Given the description of an element on the screen output the (x, y) to click on. 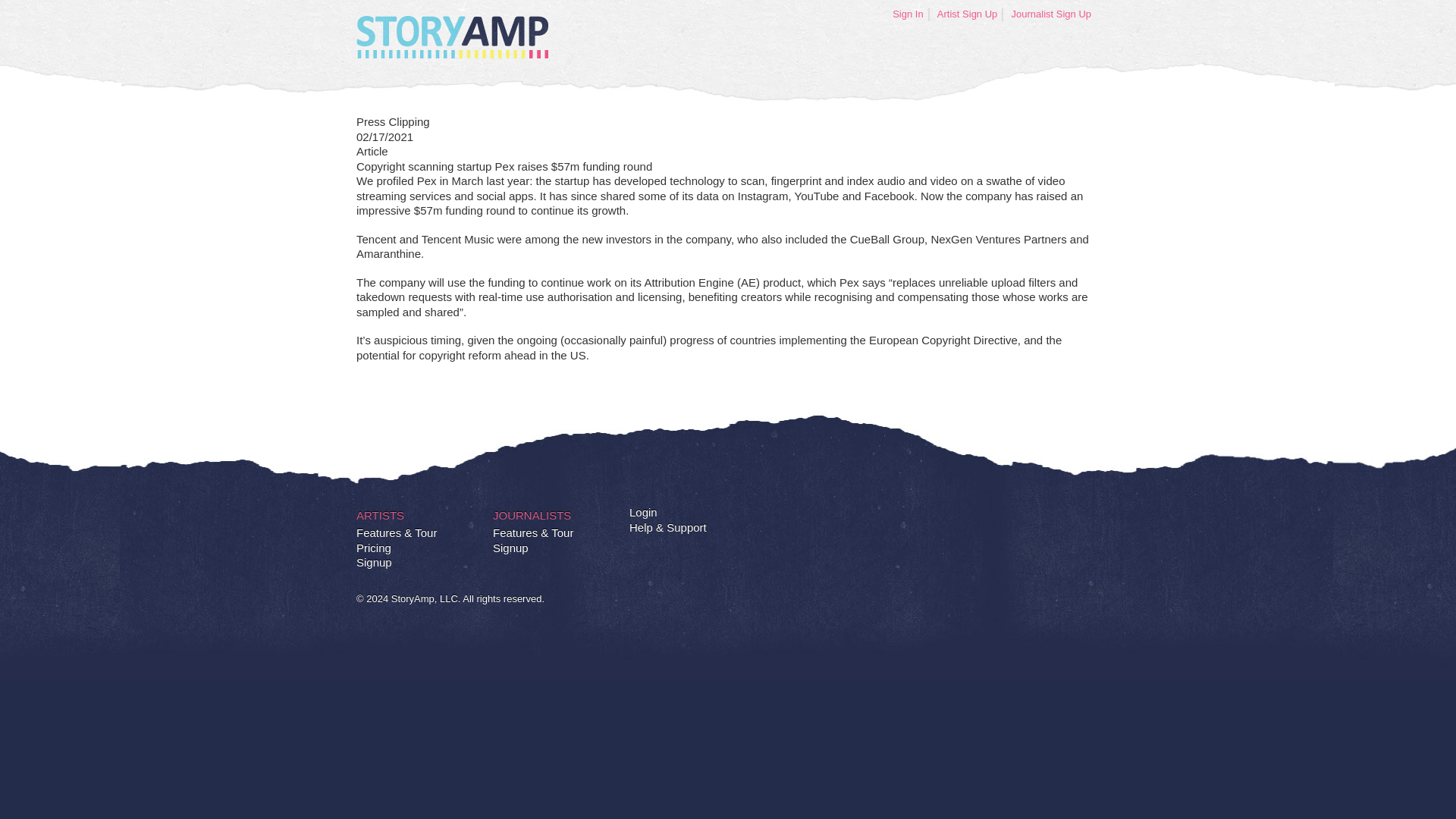
Login (643, 512)
Sign In (908, 14)
Signup (373, 562)
Journalist Sign Up (1051, 14)
Artist Sign Up (968, 14)
ARTISTS (380, 515)
JOURNALISTS (531, 515)
Pricing (373, 547)
Signup (510, 547)
